Given the description of an element on the screen output the (x, y) to click on. 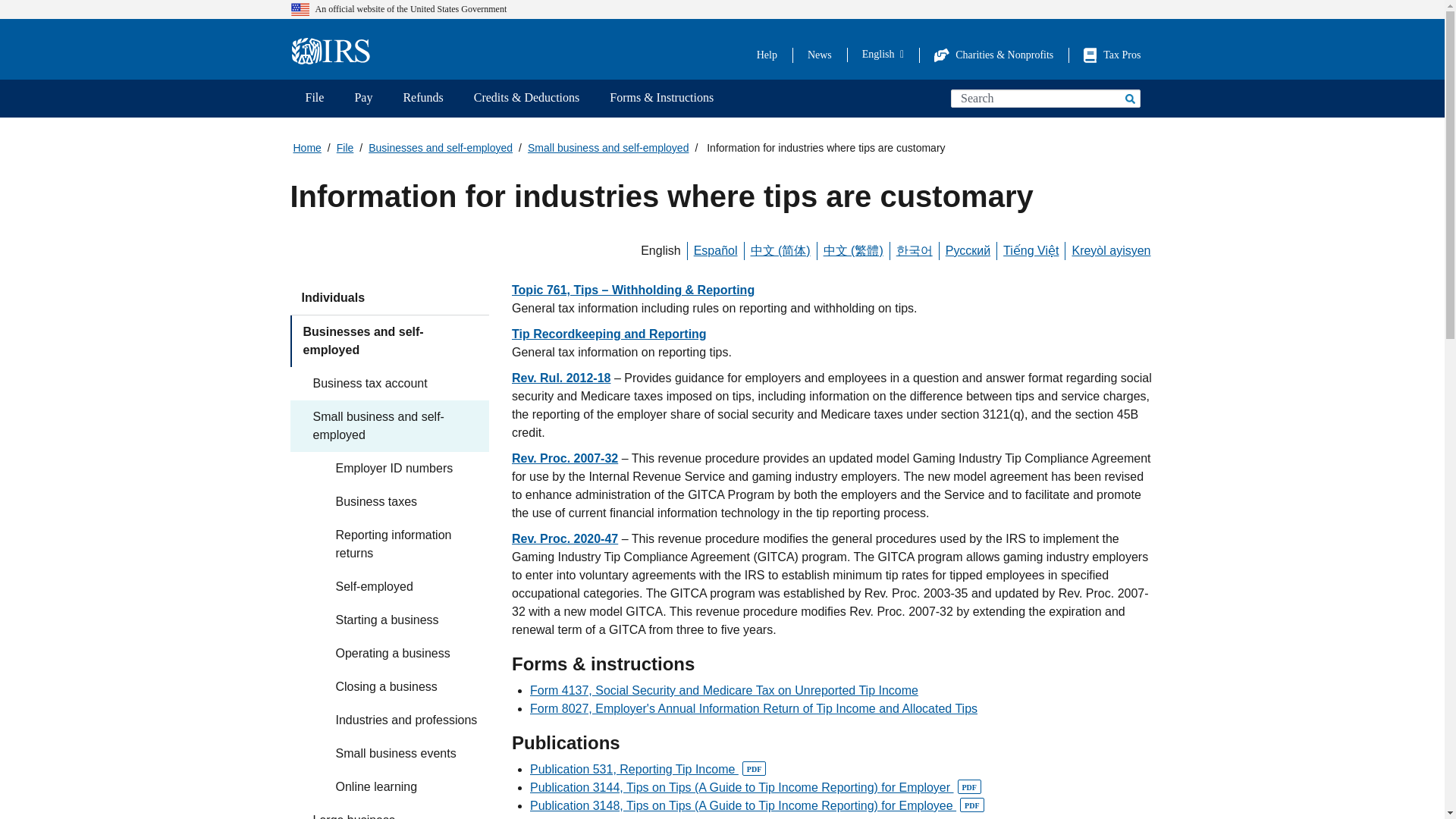
Home (335, 51)
Tax Pros (1111, 55)
Pay (363, 98)
Search (1129, 98)
English (882, 54)
File (314, 98)
